Given the description of an element on the screen output the (x, y) to click on. 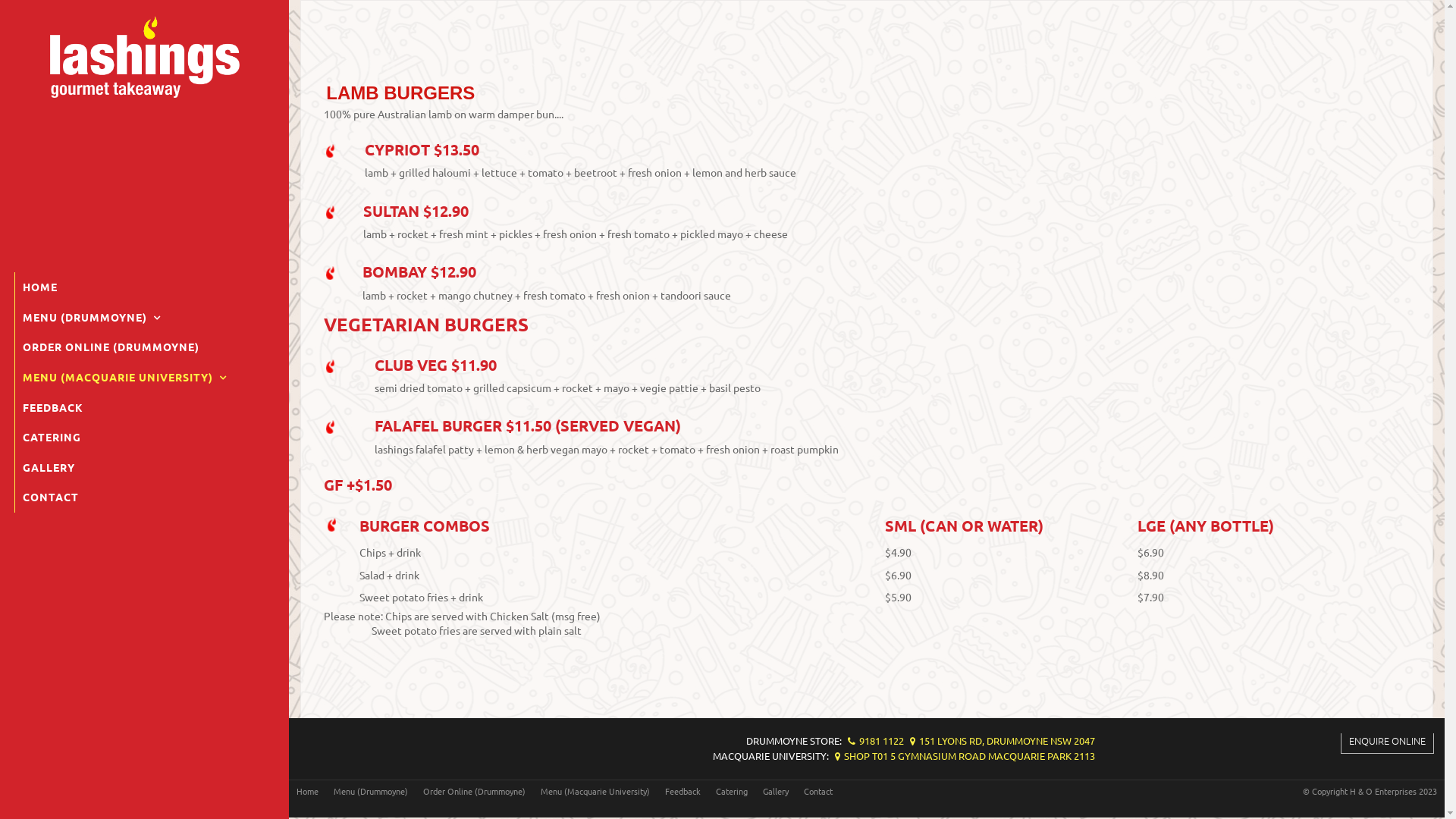
HOME Element type: text (145, 287)
Catering Element type: text (731, 791)
Menu (Macquarie University) Element type: text (595, 791)
Gallery Element type: text (775, 791)
ORDER ONLINE (DRUMMOYNE) Element type: text (145, 347)
151 LYONS RD, DRUMMOYNE NSW 2047 Element type: text (1000, 740)
ENQUIRE ONLINE Element type: text (1387, 740)
Feedback Element type: text (682, 791)
CONTACT Element type: text (145, 497)
GALLERY Element type: text (145, 467)
Home Element type: text (307, 791)
Order Online (Drummoyne) Element type: text (474, 791)
SHOP T01 5 GYMNASIUM ROAD MACQUARIE PARK 2113 Element type: text (963, 755)
MENU (DRUMMOYNE) Element type: text (145, 317)
FEEDBACK Element type: text (145, 407)
MENU (MACQUARIE UNIVERSITY) Element type: text (145, 377)
Contact Element type: text (818, 791)
CATERING Element type: text (145, 437)
Menu (Drummoyne) Element type: text (370, 791)
